Given the description of an element on the screen output the (x, y) to click on. 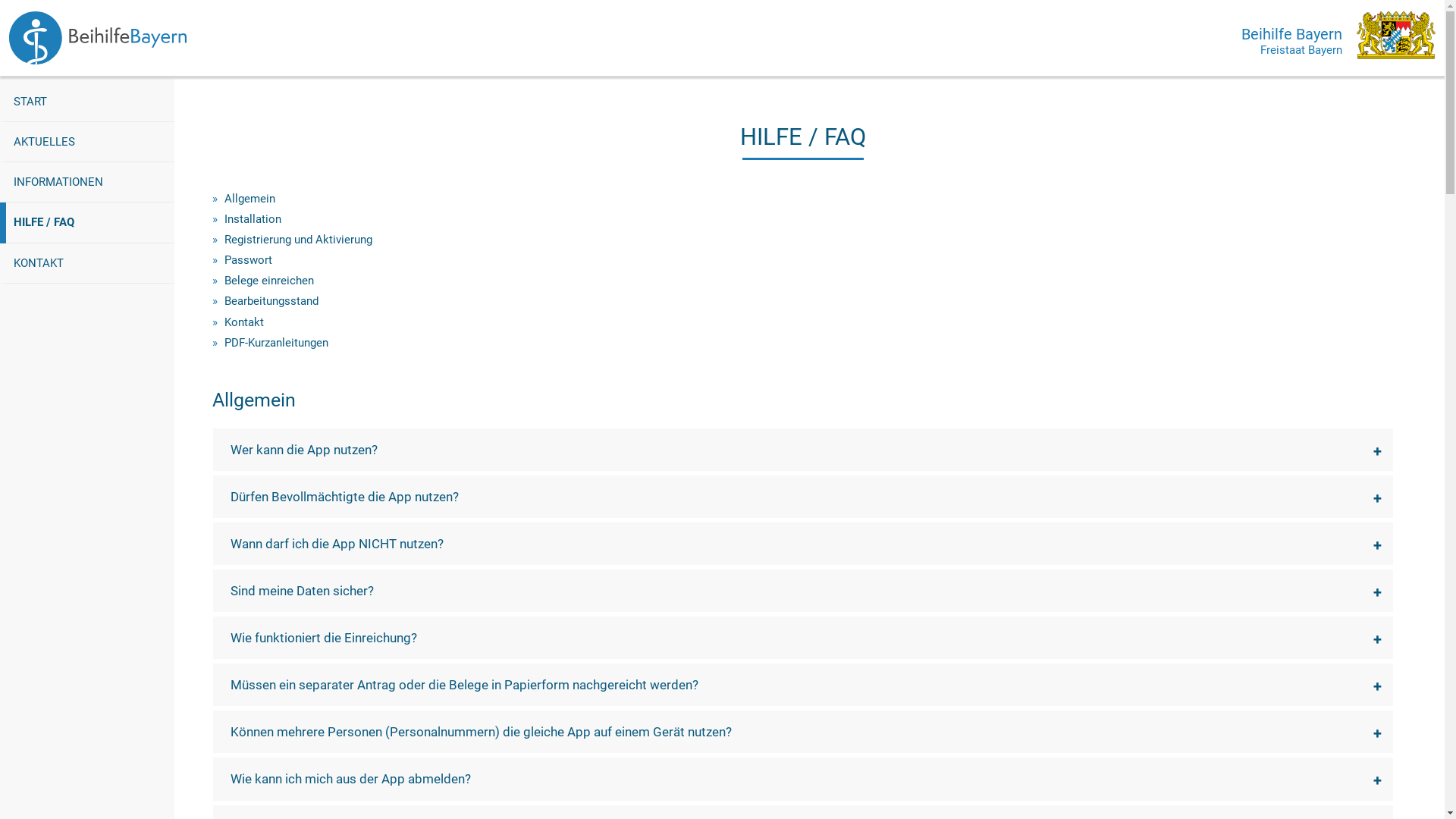
AKTUELLES Element type: text (87, 142)
HILFE / FAQ
(AKTIV) Element type: text (90, 222)
Sind meine Daten sicher? Element type: text (802, 590)
Zur Startseite Beihilfe Bayern Element type: hover (98, 37)
Wann darf ich die App NICHT nutzen? Element type: text (802, 543)
Wer kann die App nutzen? Element type: text (802, 449)
PDF-Kurzanleitungen Element type: text (276, 342)
START Element type: text (87, 101)
Registrierung und Aktivierung Element type: text (298, 239)
INFORMATIONEN Element type: text (87, 182)
Allgemein Element type: text (249, 198)
Kontakt Element type: text (243, 322)
Installation Element type: text (252, 218)
Passwort Element type: text (248, 259)
KONTAKT Element type: text (87, 262)
Belege einreichen Element type: text (268, 280)
Wie kann ich mich aus der App abmelden? Element type: text (802, 778)
Wie funktioniert die Einreichung? Element type: text (802, 637)
Bearbeitungsstand Element type: text (271, 300)
